Given the description of an element on the screen output the (x, y) to click on. 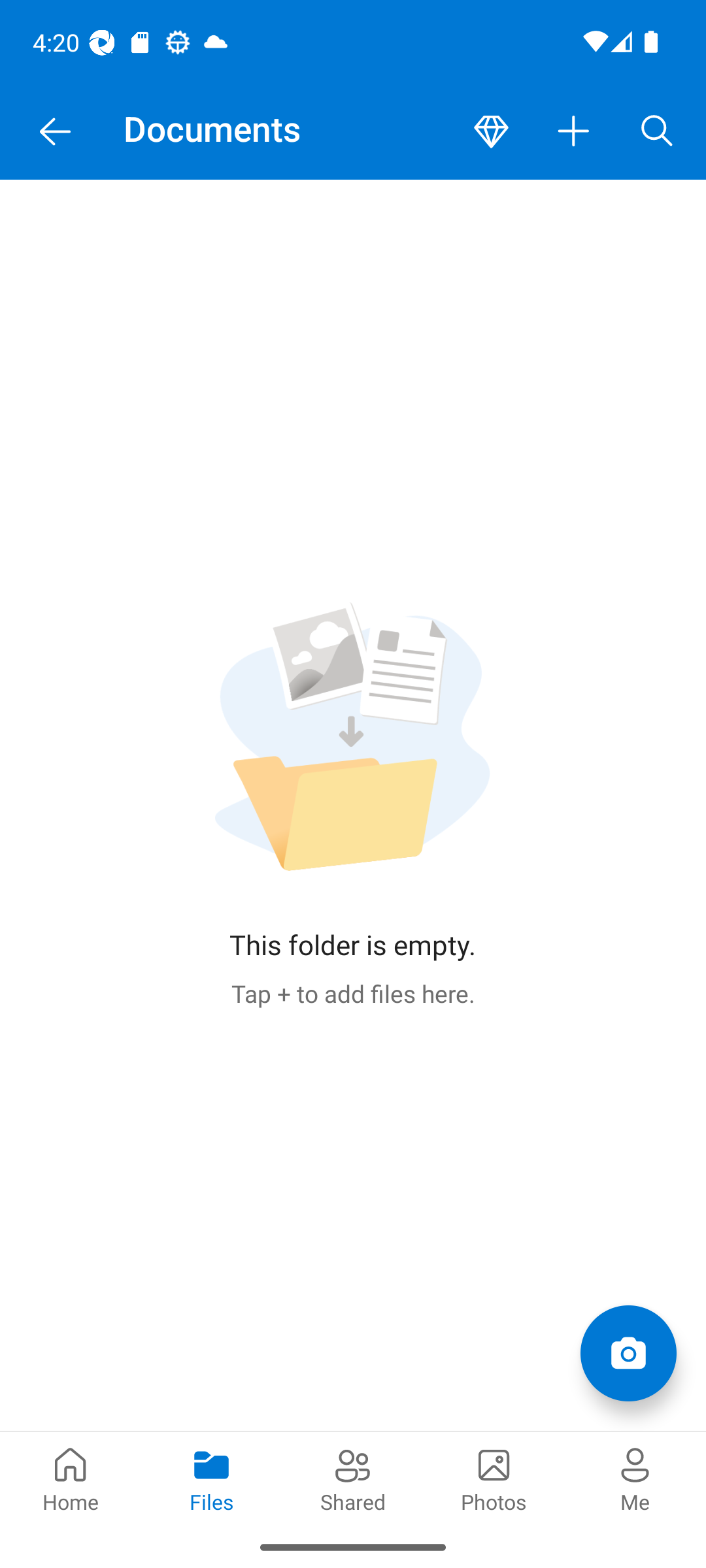
Navigate Up (55, 131)
Premium button (491, 131)
More actions button (574, 131)
Search button (656, 131)
Add items Scan (628, 1352)
Home pivot Home (70, 1478)
Shared pivot Shared (352, 1478)
Photos pivot Photos (493, 1478)
Me pivot Me (635, 1478)
